Given the description of an element on the screen output the (x, y) to click on. 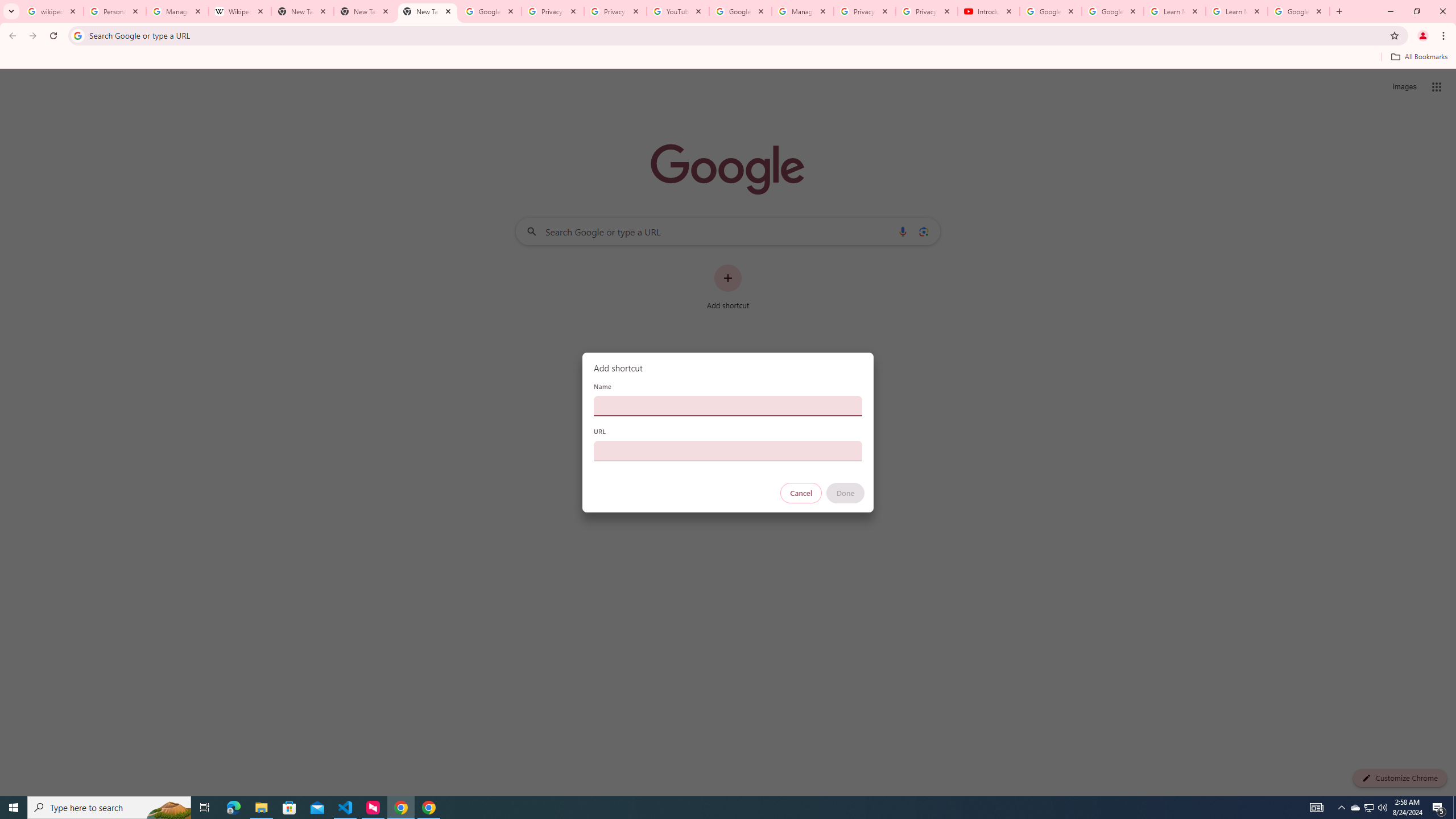
Wikipedia:Edit requests - Wikipedia (239, 11)
Manage your Location History - Google Search Help (177, 11)
Google Account Help (1111, 11)
Name (727, 405)
Done (845, 493)
Google Account Help (740, 11)
Cancel (801, 493)
